Given the description of an element on the screen output the (x, y) to click on. 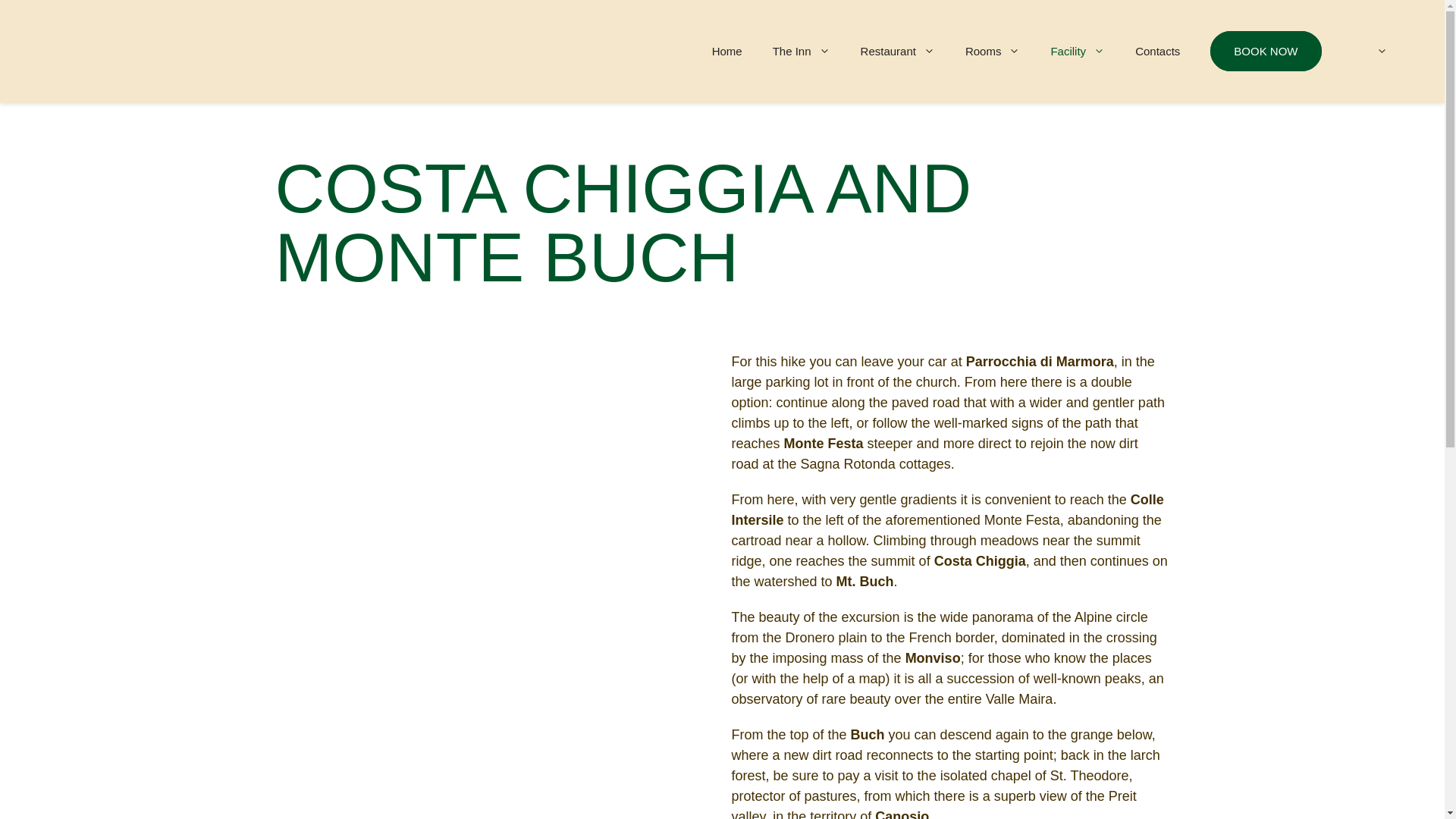
The Inn (801, 51)
Home (727, 51)
Rooms (992, 51)
Restaurant (897, 51)
Facility (1077, 51)
Contacts (1157, 51)
BOOK NOW (1265, 51)
